Given the description of an element on the screen output the (x, y) to click on. 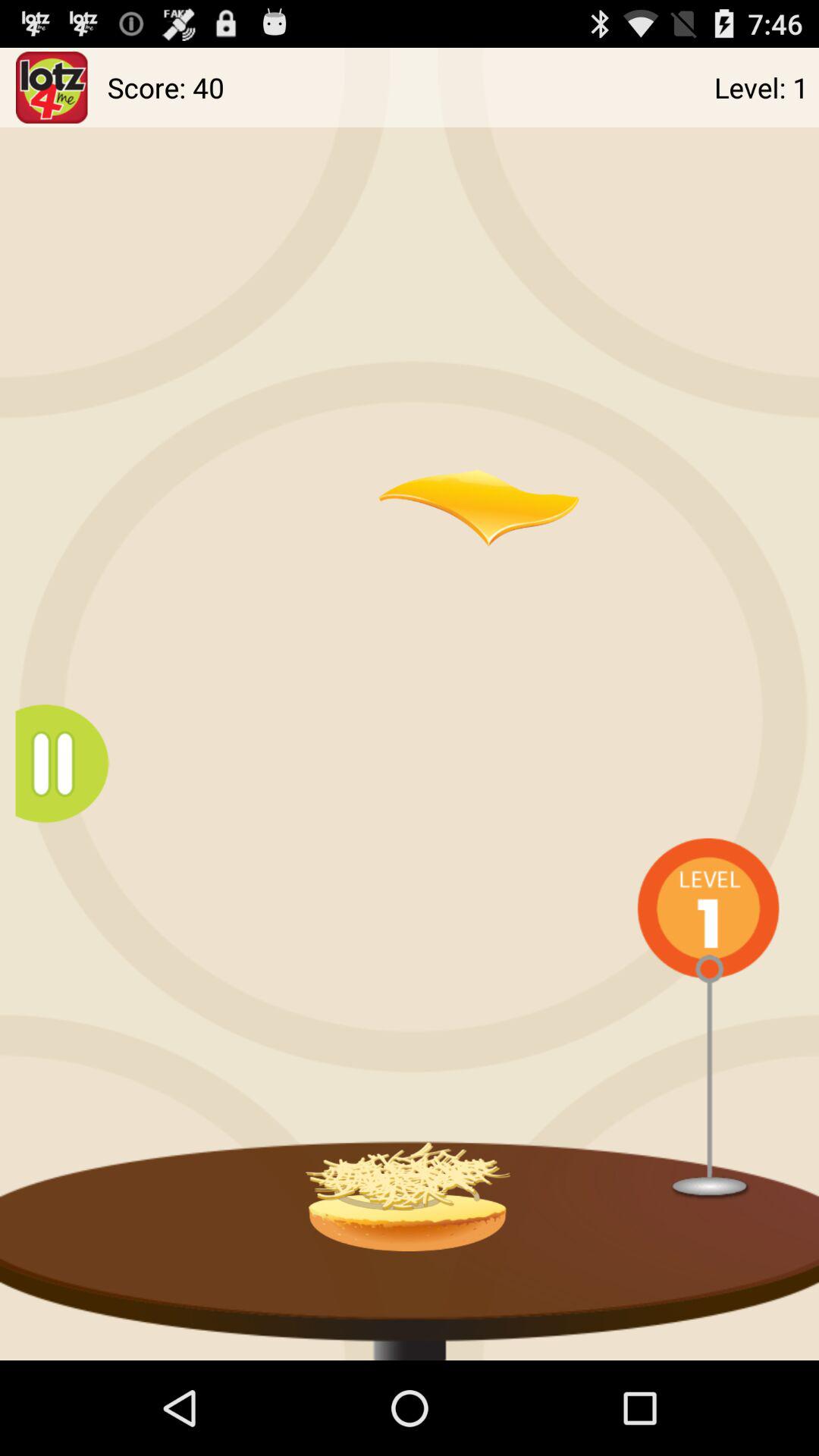
go to menu (69, 763)
